Given the description of an element on the screen output the (x, y) to click on. 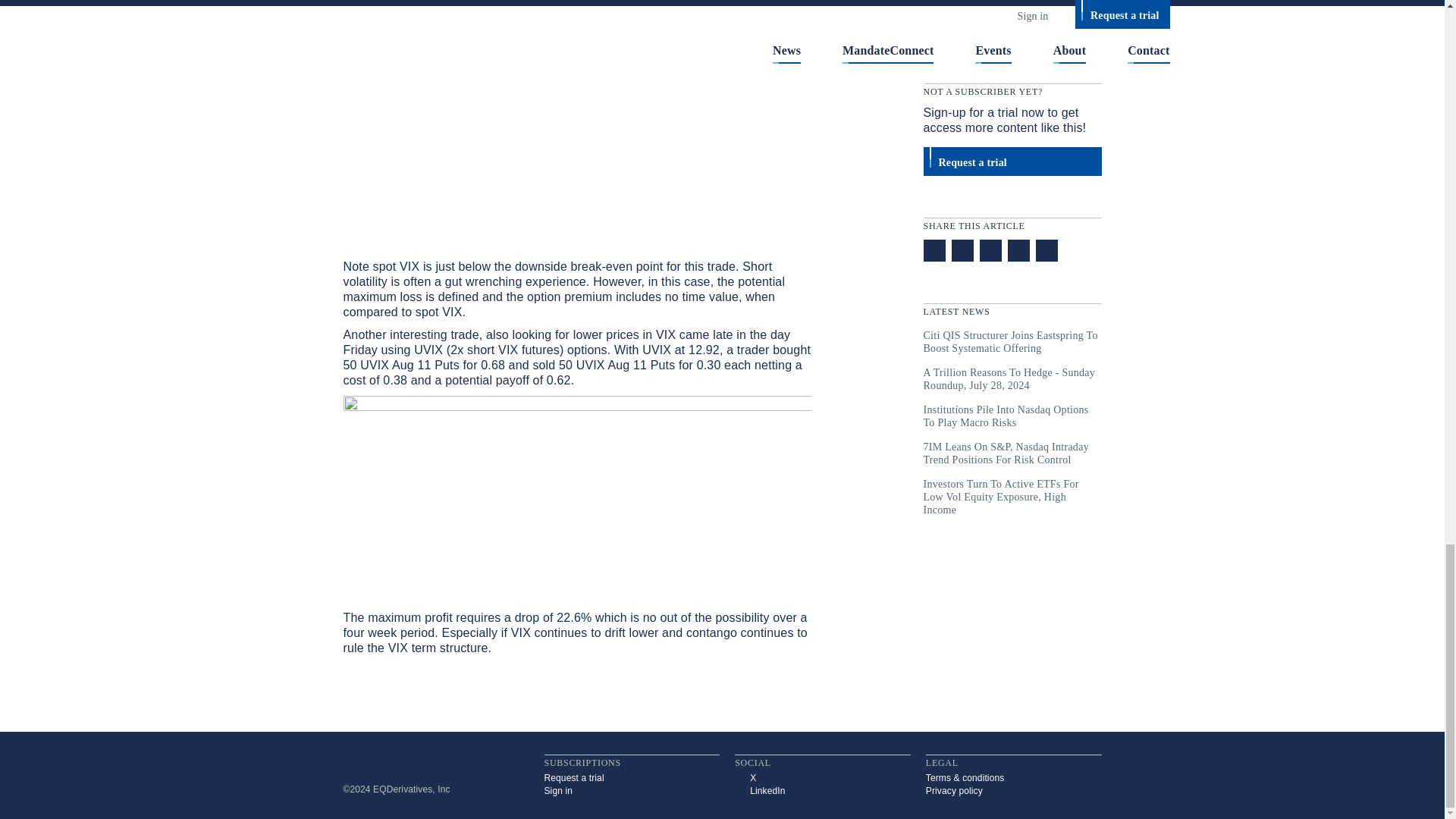
LinkedIn (823, 790)
Sign in (632, 790)
Request a trial (632, 777)
X (823, 777)
Privacy policy (1014, 790)
